Given the description of an element on the screen output the (x, y) to click on. 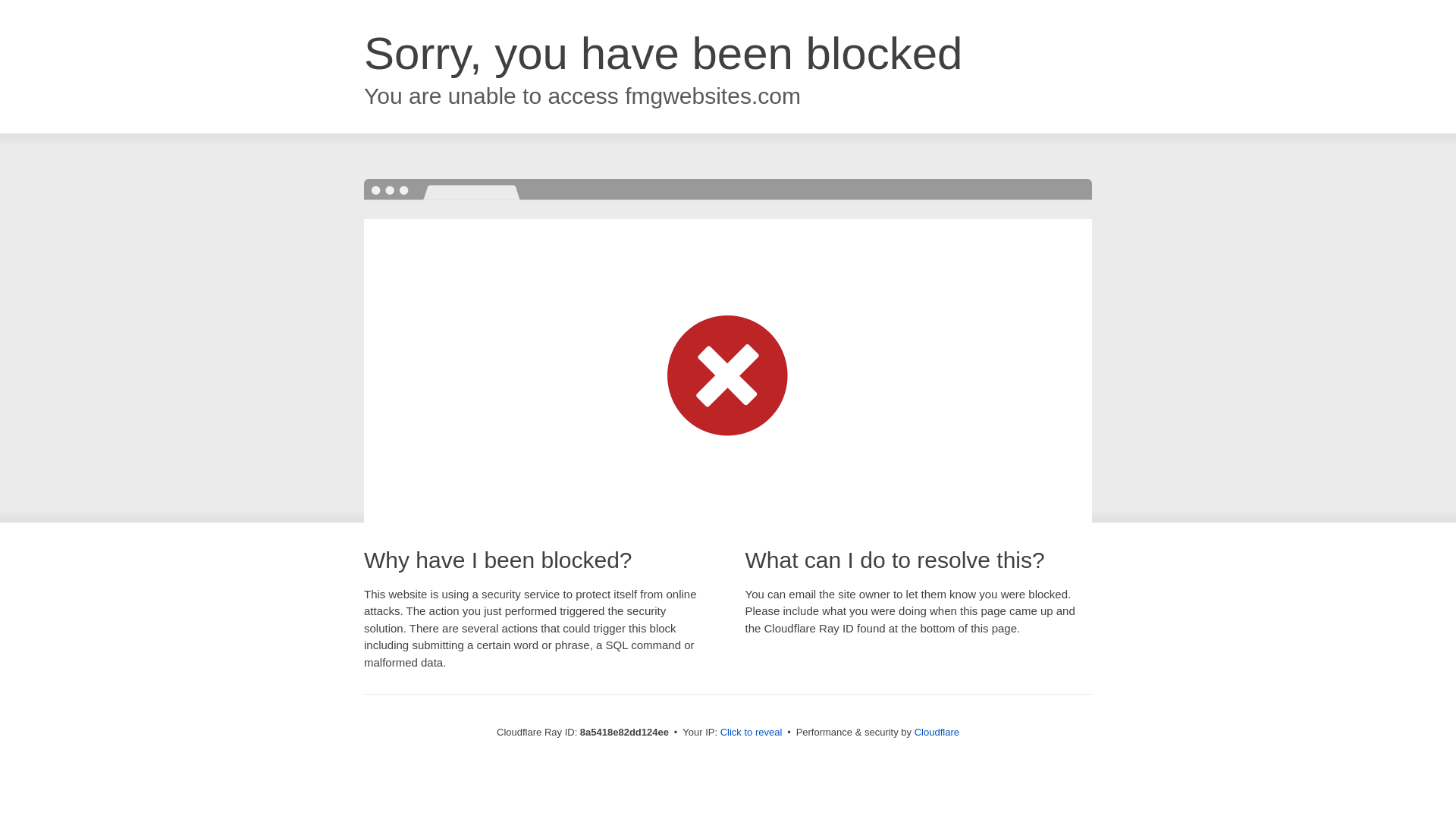
Click to reveal (751, 732)
Cloudflare (936, 731)
